Given the description of an element on the screen output the (x, y) to click on. 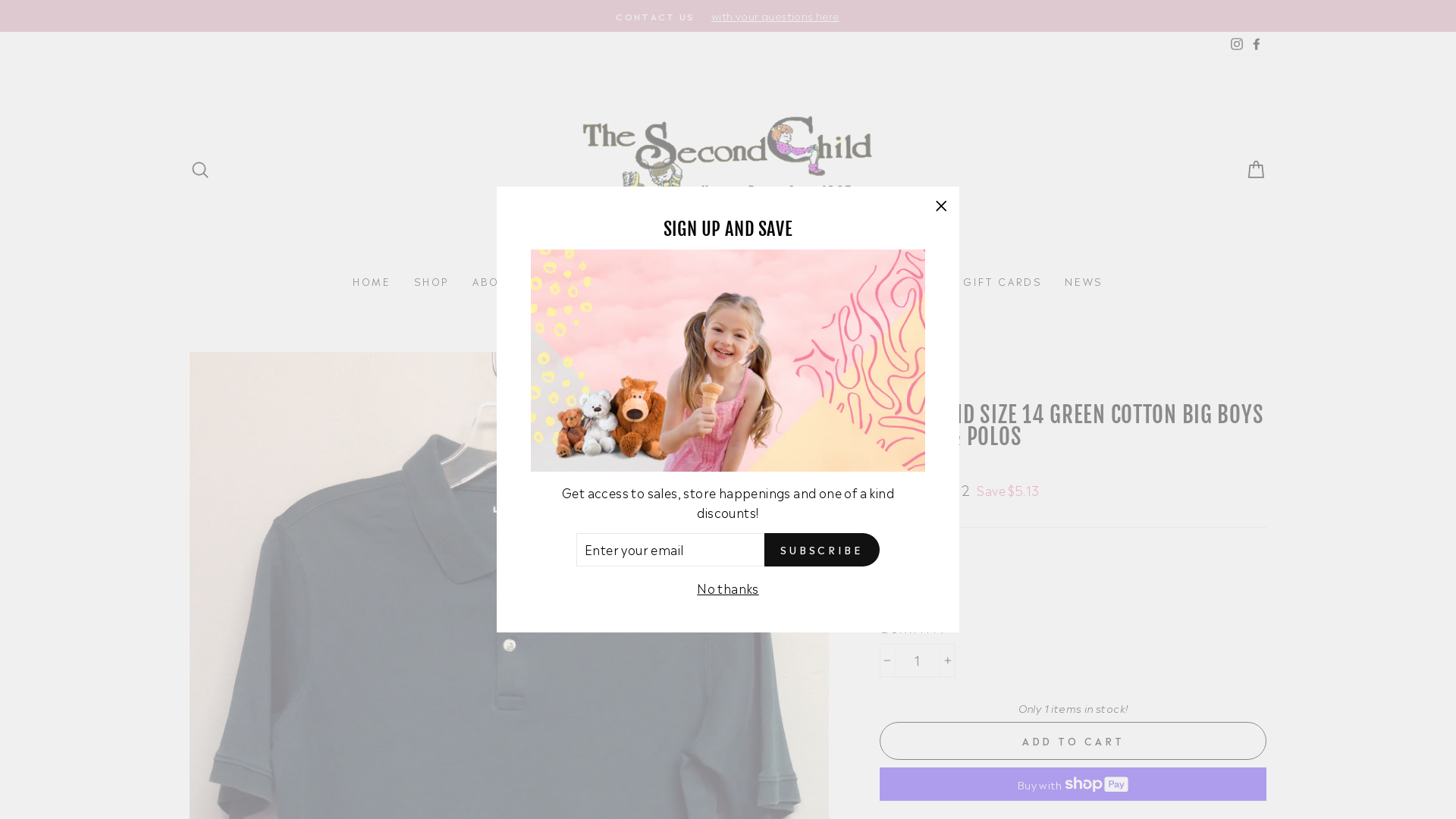
Home Element type: text (894, 366)
WHAT WE CARRY Element type: text (736, 281)
SHOP Element type: text (431, 281)
LANDS END Element type: text (917, 390)
+ Element type: text (947, 660)
CONTACT & HOURS Element type: text (876, 281)
HOW TO CONSIGN Element type: text (599, 281)
No thanks Element type: text (727, 588)
CART Element type: text (1255, 169)
"Close (esc)" Element type: text (940, 205)
SEARCH Element type: text (199, 169)
SUBSCRIBE Element type: text (821, 549)
Instagram Element type: text (1236, 43)
Skip to content Element type: text (0, 0)
ABOUT Element type: text (494, 281)
Facebook Element type: text (1256, 43)
ADD TO CART Element type: text (1072, 740)
NEWS Element type: text (1083, 281)
HOME Element type: text (371, 281)
GIFT CARDS Element type: text (1002, 281)
